Given the description of an element on the screen output the (x, y) to click on. 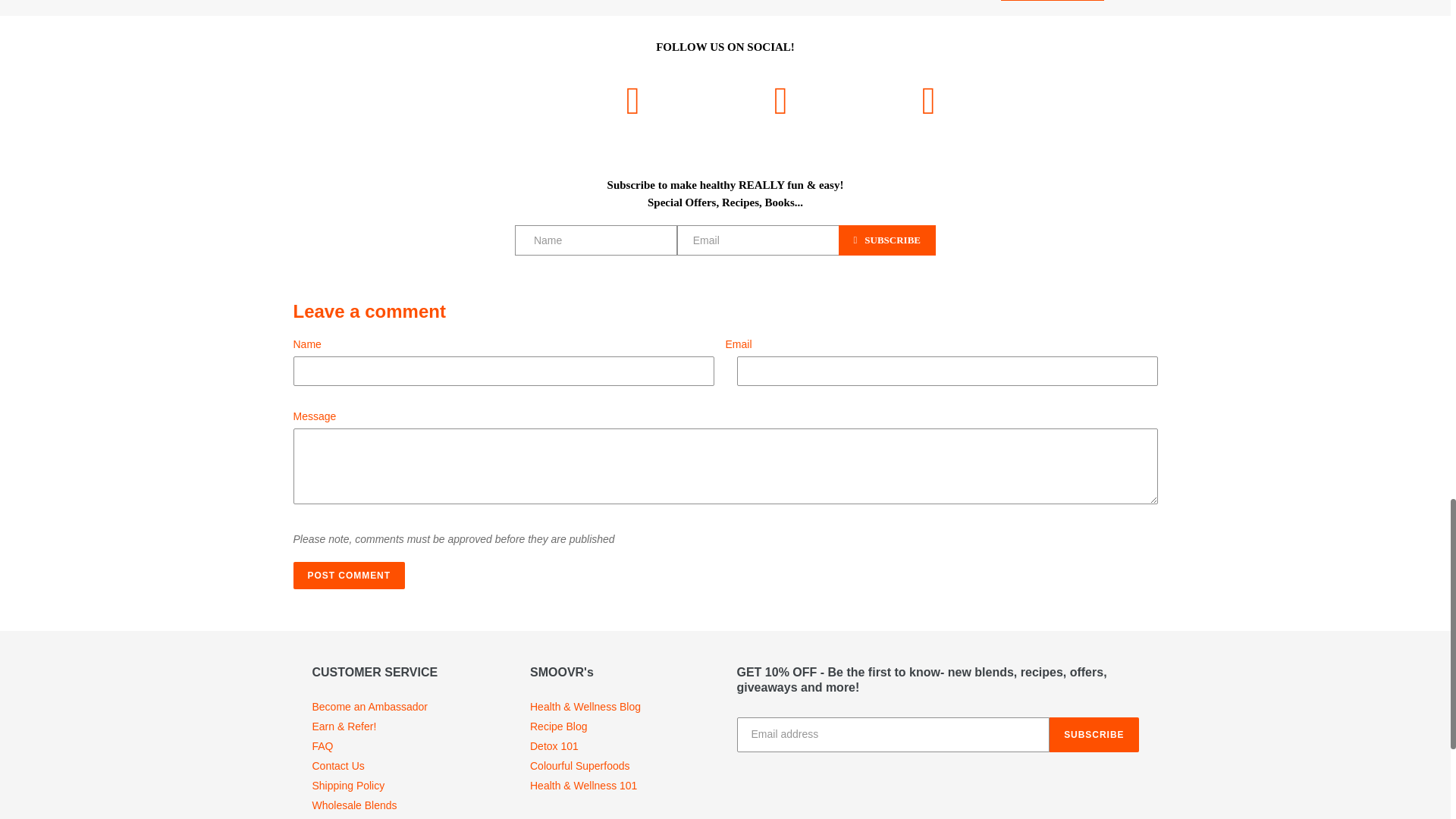
Post comment (348, 574)
